Given the description of an element on the screen output the (x, y) to click on. 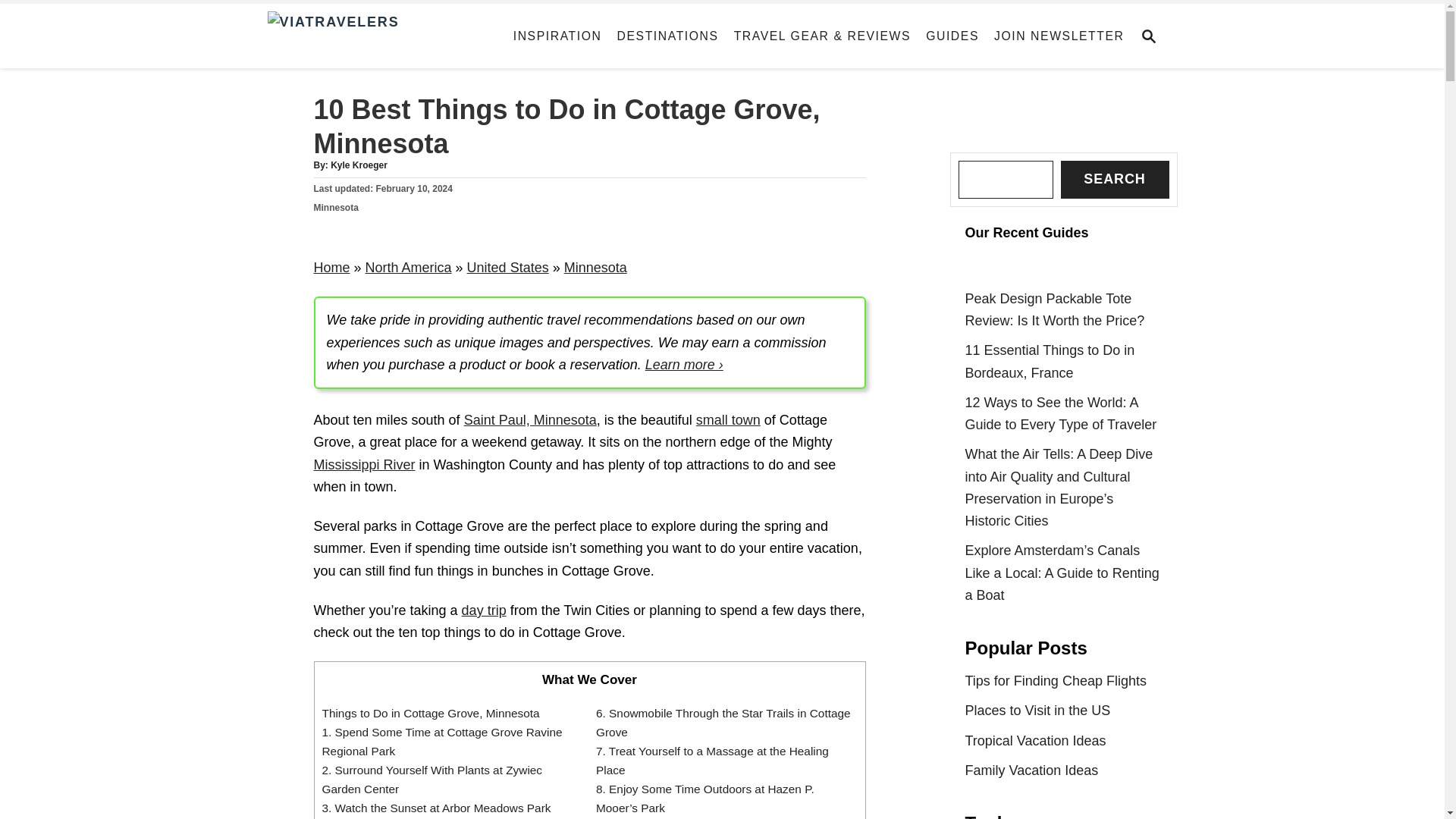
SEARCH (1153, 36)
DESTINATIONS (668, 36)
ViaTravelers (382, 35)
INSPIRATION (557, 36)
Mississippi River (364, 463)
